Given the description of an element on the screen output the (x, y) to click on. 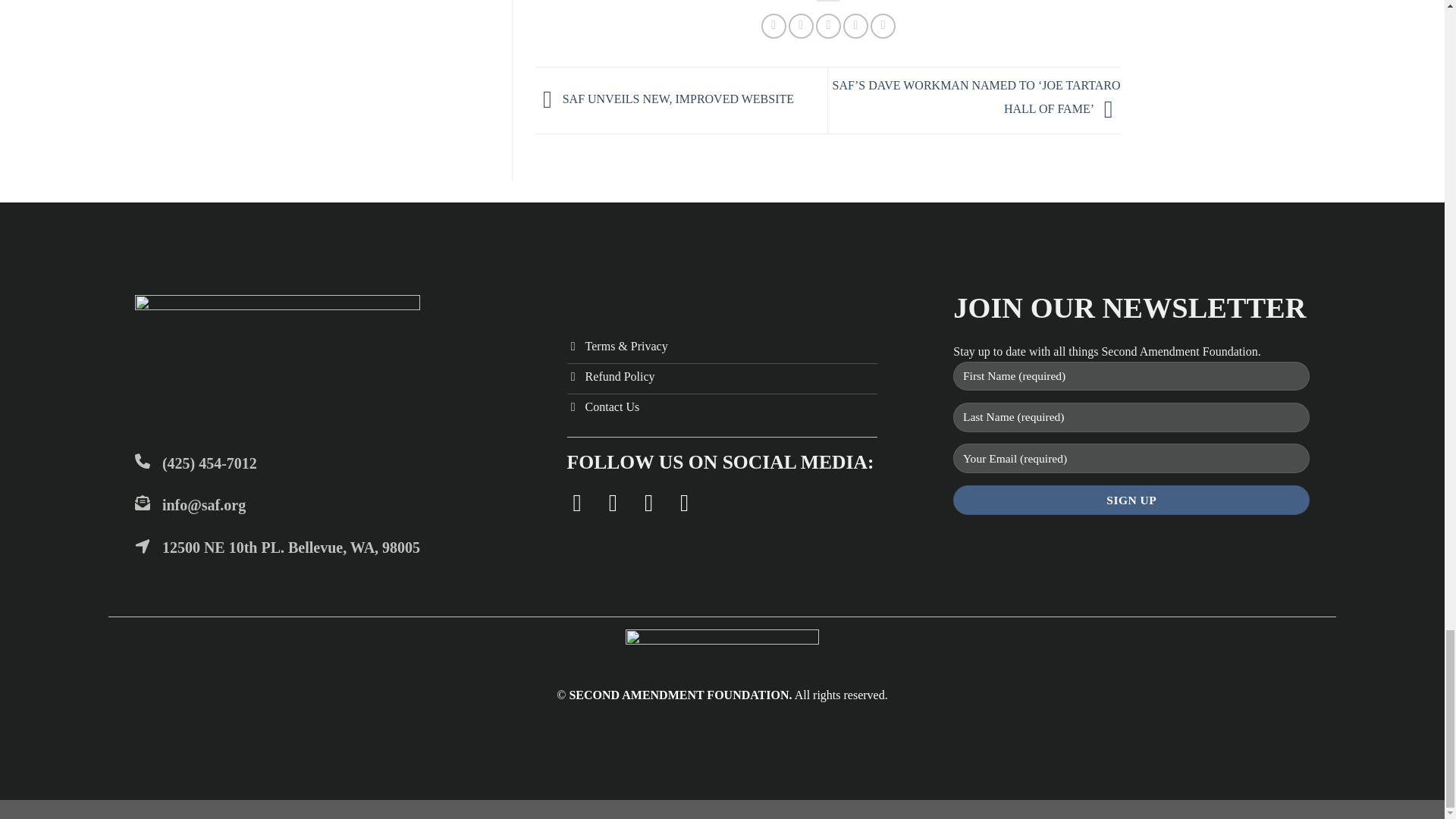
Sign Up (1130, 500)
